Given the description of an element on the screen output the (x, y) to click on. 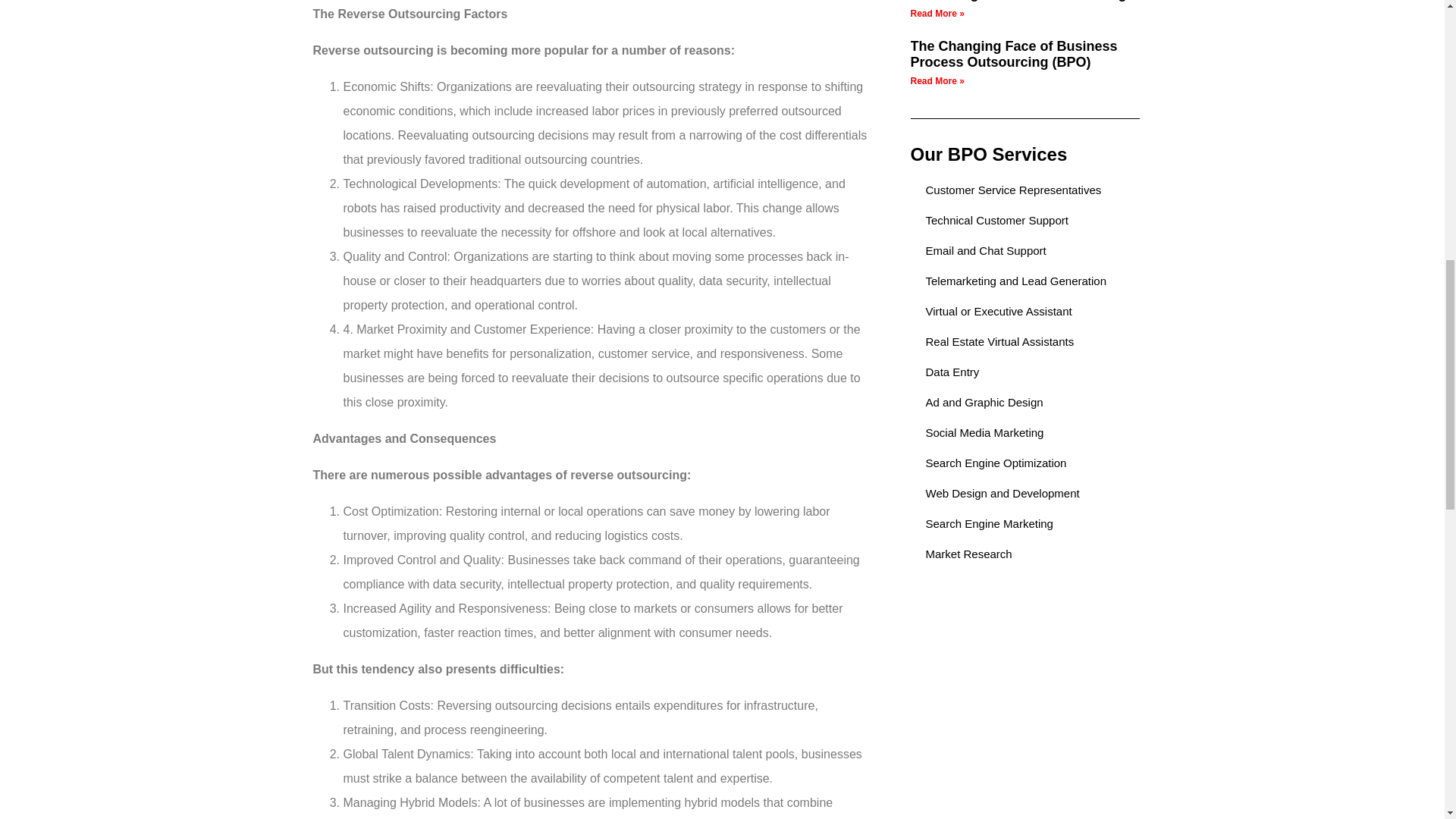
Email and Chat Support (1024, 250)
Telemarketing and Lead Generation (1024, 281)
Technical Customer Support (1024, 220)
Customer Service Representatives (1024, 190)
